Given the description of an element on the screen output the (x, y) to click on. 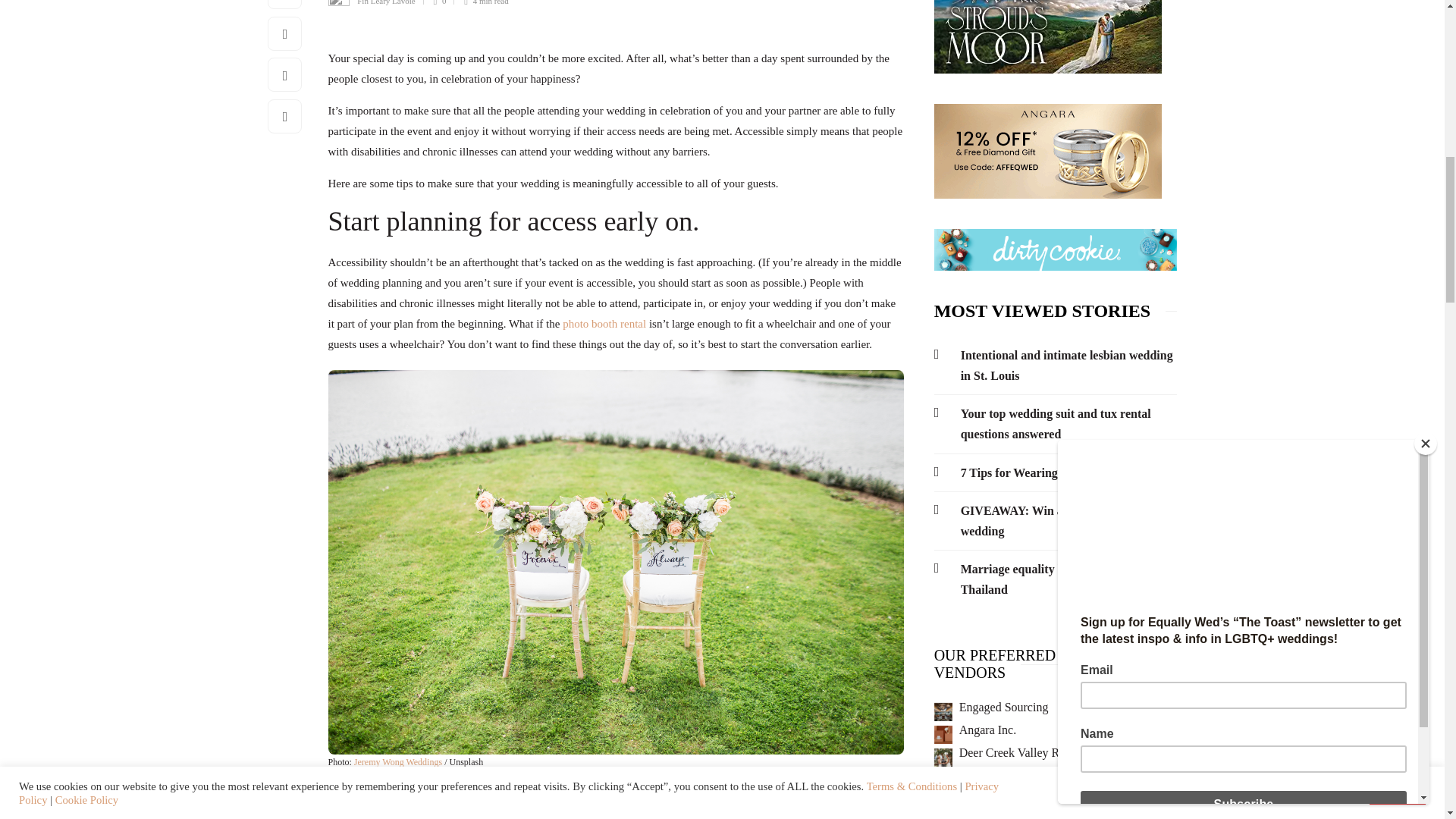
How to make your wedding accessible (614, 561)
Harvey House (994, 775)
custom - hh featured -07.jpg (943, 780)
Angara Inc. (987, 729)
Maven Hotel (943, 711)
Engaged Sourcing (1003, 707)
Deer Creek Valley Ranch (1021, 752)
